Given the description of an element on the screen output the (x, y) to click on. 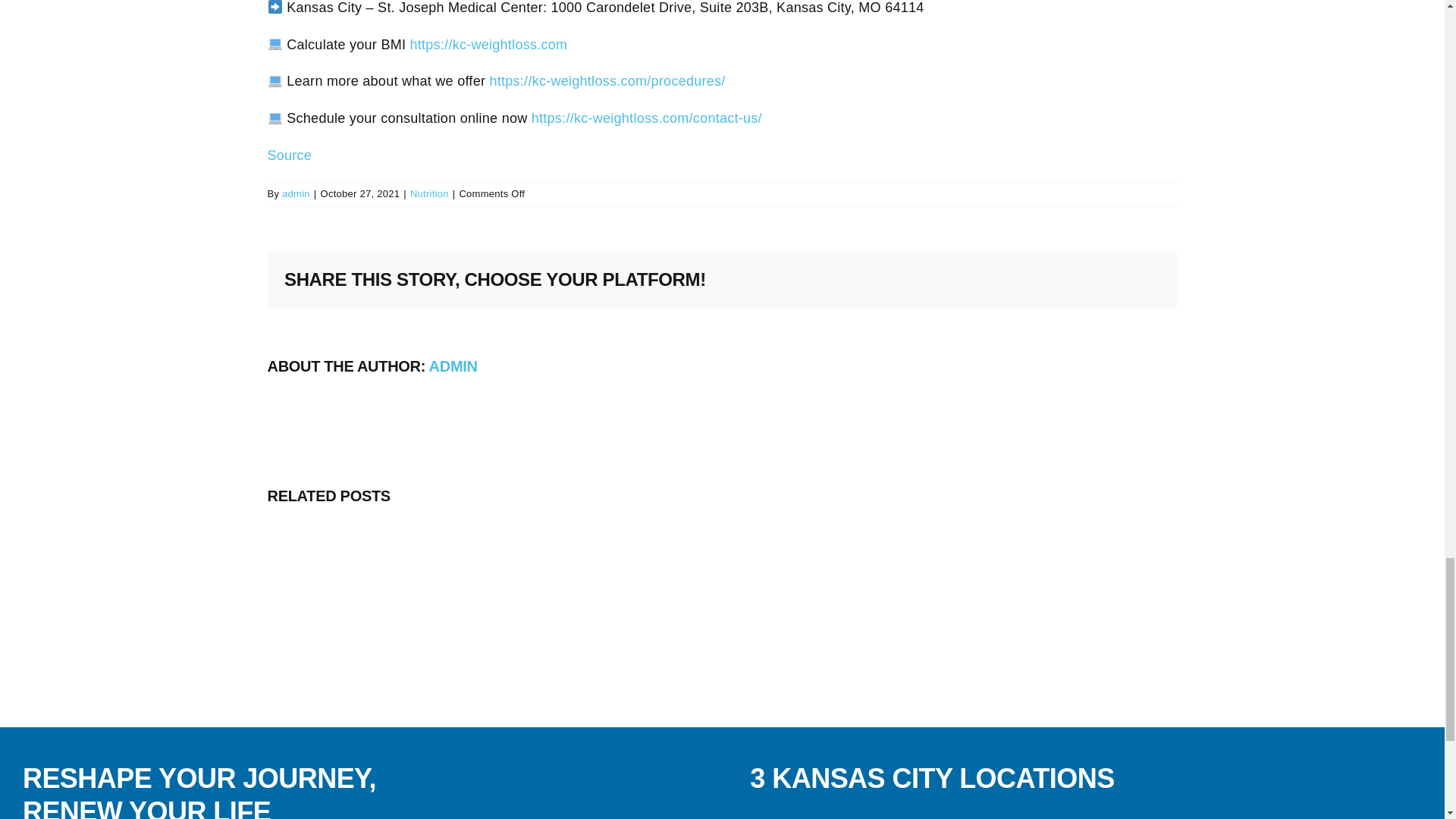
Posts by admin (453, 365)
Posts by admin (296, 193)
